Given the description of an element on the screen output the (x, y) to click on. 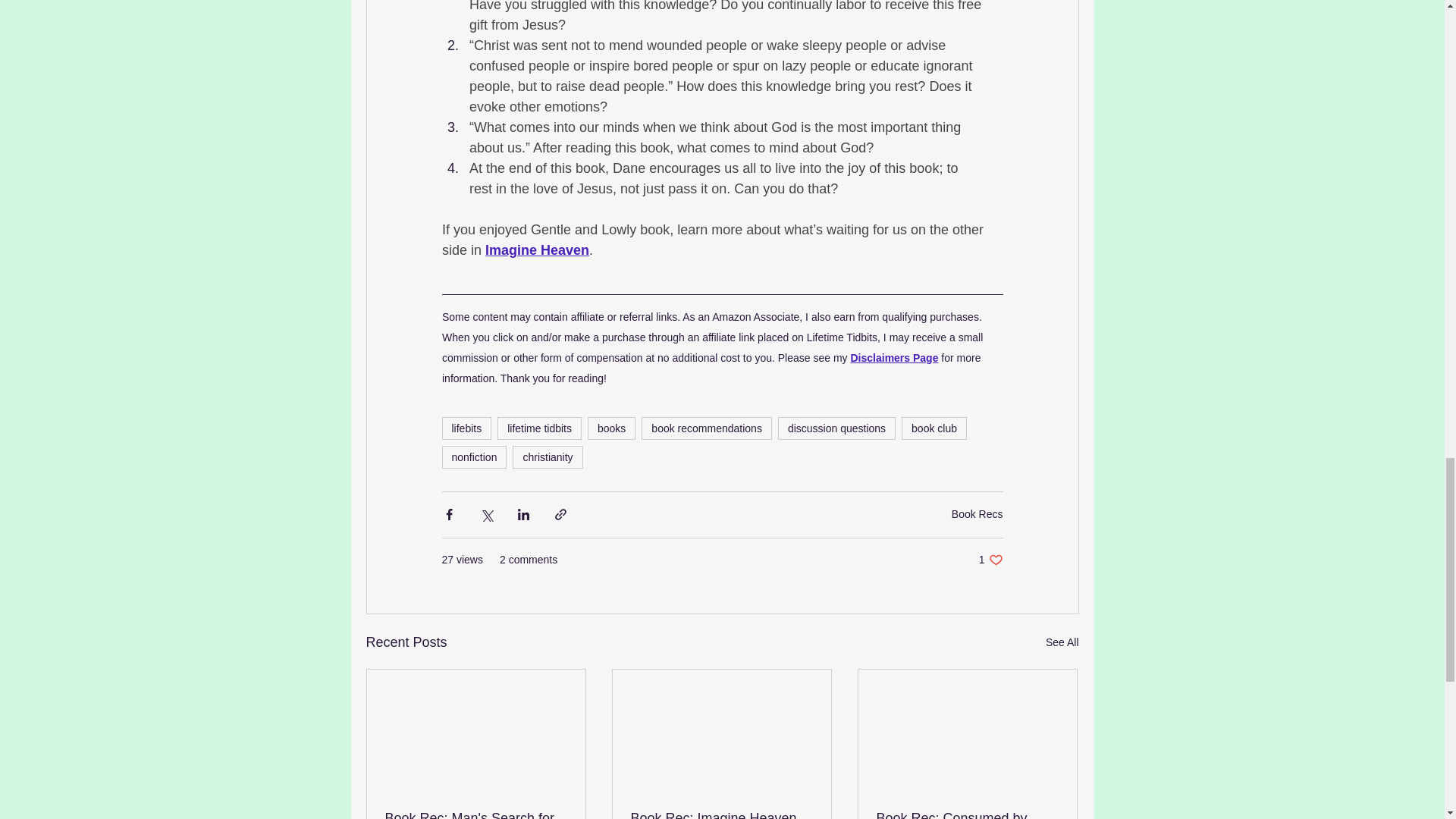
lifetime tidbits (538, 427)
nonfiction (473, 456)
Disclaimers Page (893, 356)
books (611, 427)
lifebits (466, 427)
Book Recs (977, 513)
Book Rec: Imagine Heaven by John Burke (721, 814)
book club (933, 427)
Book Rec: Man's Search for Meaning (476, 814)
book recommendations (706, 427)
